Given the description of an element on the screen output the (x, y) to click on. 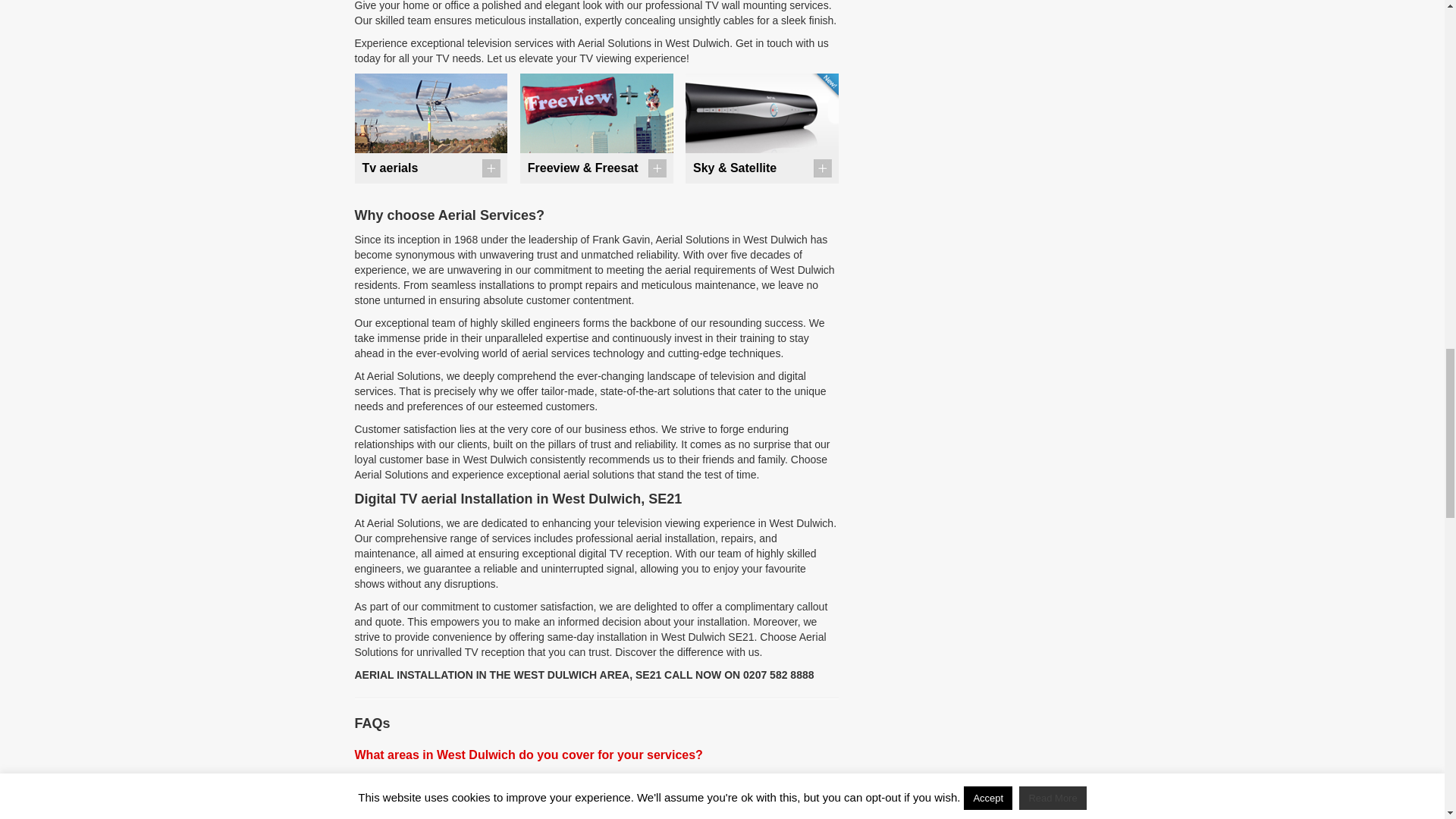
TV aerial installation Harlesden (431, 113)
Satellite TV installation and satellite dish Harlesden (761, 113)
Freeview digital TV installation (595, 113)
